Given the description of an element on the screen output the (x, y) to click on. 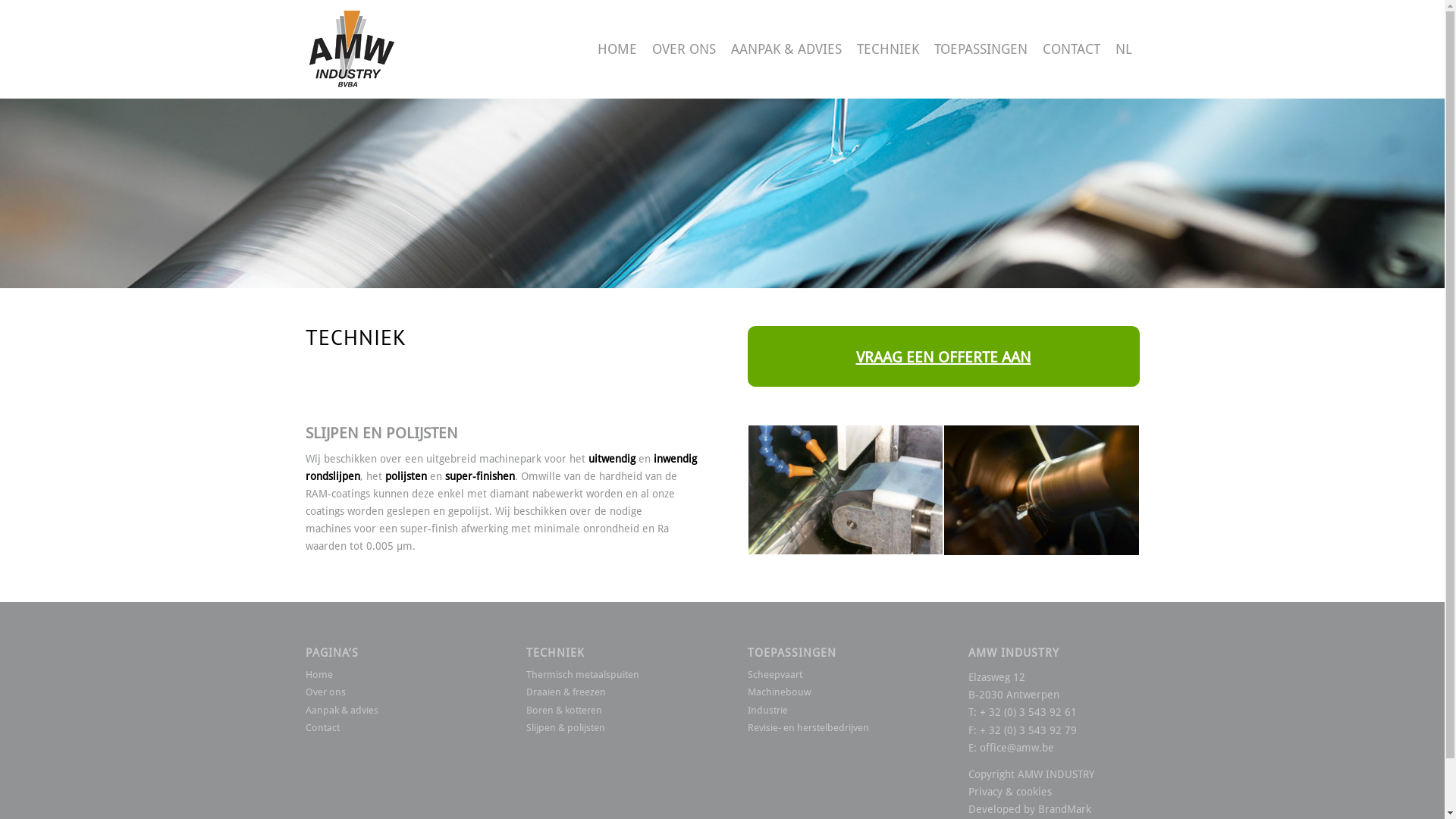
DSC_5469_A Element type: hover (1041, 489)
Thermisch metaalspuiten Element type: text (611, 674)
Scheepvaart Element type: text (833, 674)
office@amw.be Element type: text (1016, 747)
NL Element type: text (1123, 49)
OVER ONS Element type: text (683, 49)
Machinebouw Element type: text (833, 691)
CONTACT Element type: text (1070, 49)
Polijsten-3 Element type: hover (845, 489)
Boren & kotteren Element type: text (611, 709)
BrandMark Element type: text (1064, 809)
Draaien & freezen Element type: text (611, 691)
Revisie- en herstelbedrijven Element type: text (833, 727)
Slijpen & polijsten Element type: text (611, 727)
Industrie Element type: text (833, 709)
TECHNIEK Element type: text (887, 49)
AANPAK & ADVIES Element type: text (786, 49)
VRAAG EEN OFFERTE AAN Element type: text (942, 357)
Home Element type: text (390, 674)
HOME Element type: text (616, 49)
Over ons Element type: text (390, 691)
Contact Element type: text (390, 727)
Aanpak & advies Element type: text (390, 709)
TOEPASSINGEN Element type: text (980, 49)
Privacy & cookies Element type: text (1009, 791)
